Given the description of an element on the screen output the (x, y) to click on. 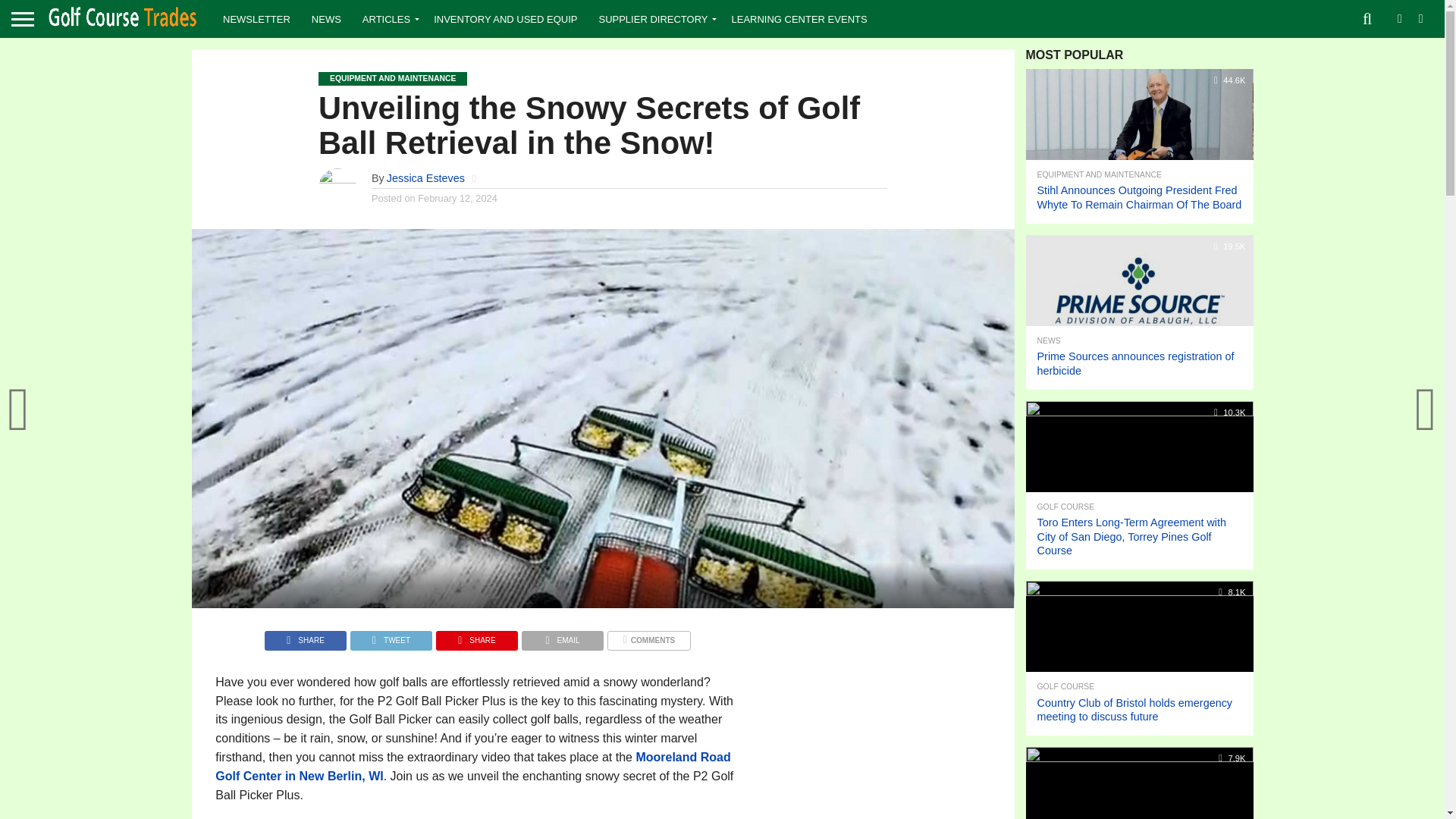
Share on Facebook (305, 635)
Pin This Post (476, 635)
SUPPLIER DIRECTORY (654, 18)
INVENTORY AND USED EQUIP (505, 18)
NEWS (326, 18)
NEWSLETTER (256, 18)
Tweet This Post (390, 635)
Posts by Jessica Esteves (425, 177)
ARTICLES (387, 18)
